Given the description of an element on the screen output the (x, y) to click on. 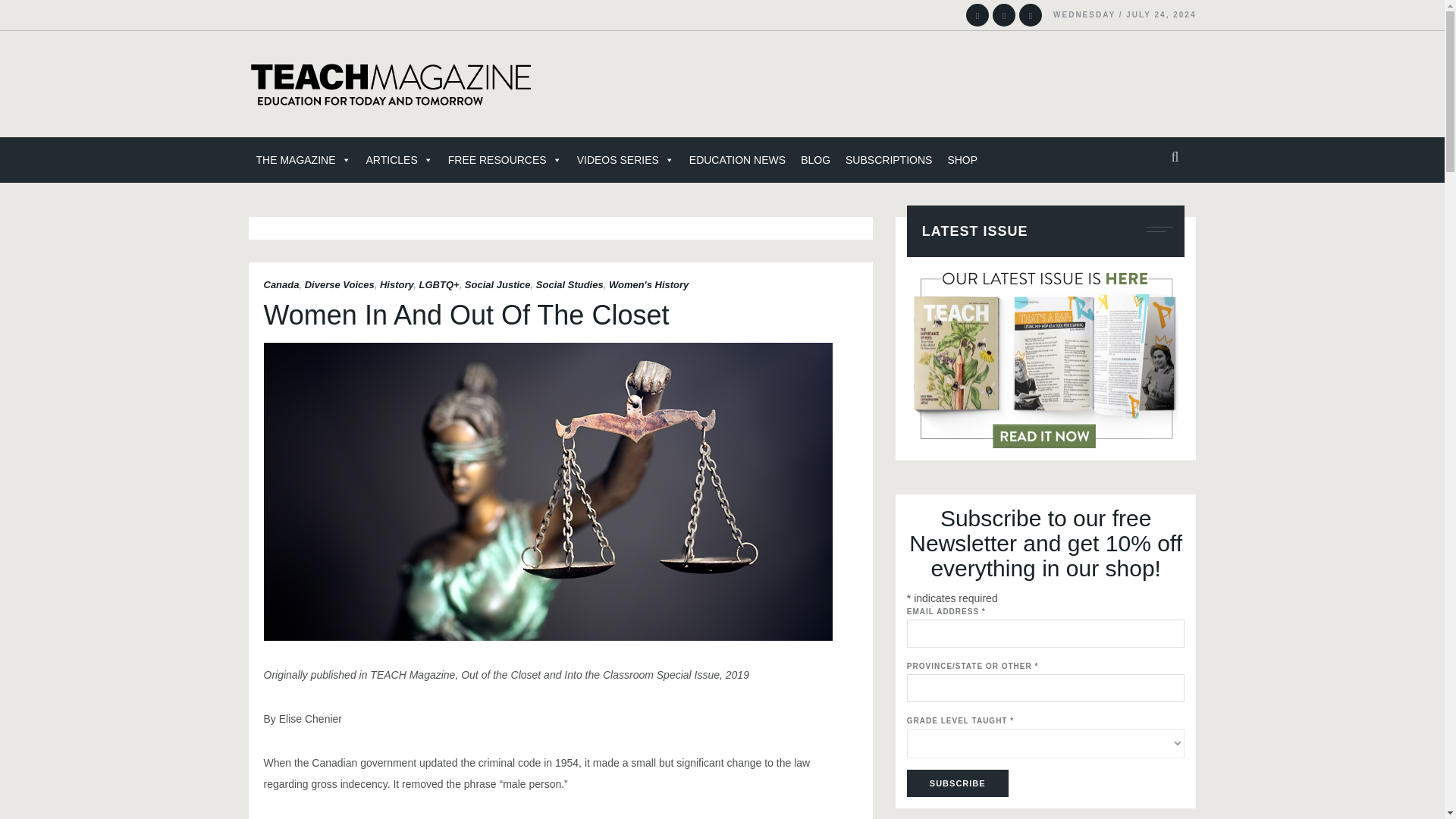
THE MAGAZINE (303, 159)
Instagram (977, 15)
Subscribe (958, 782)
Facebook (1030, 15)
Twitter (1003, 15)
ARTICLES (399, 159)
